Given the description of an element on the screen output the (x, y) to click on. 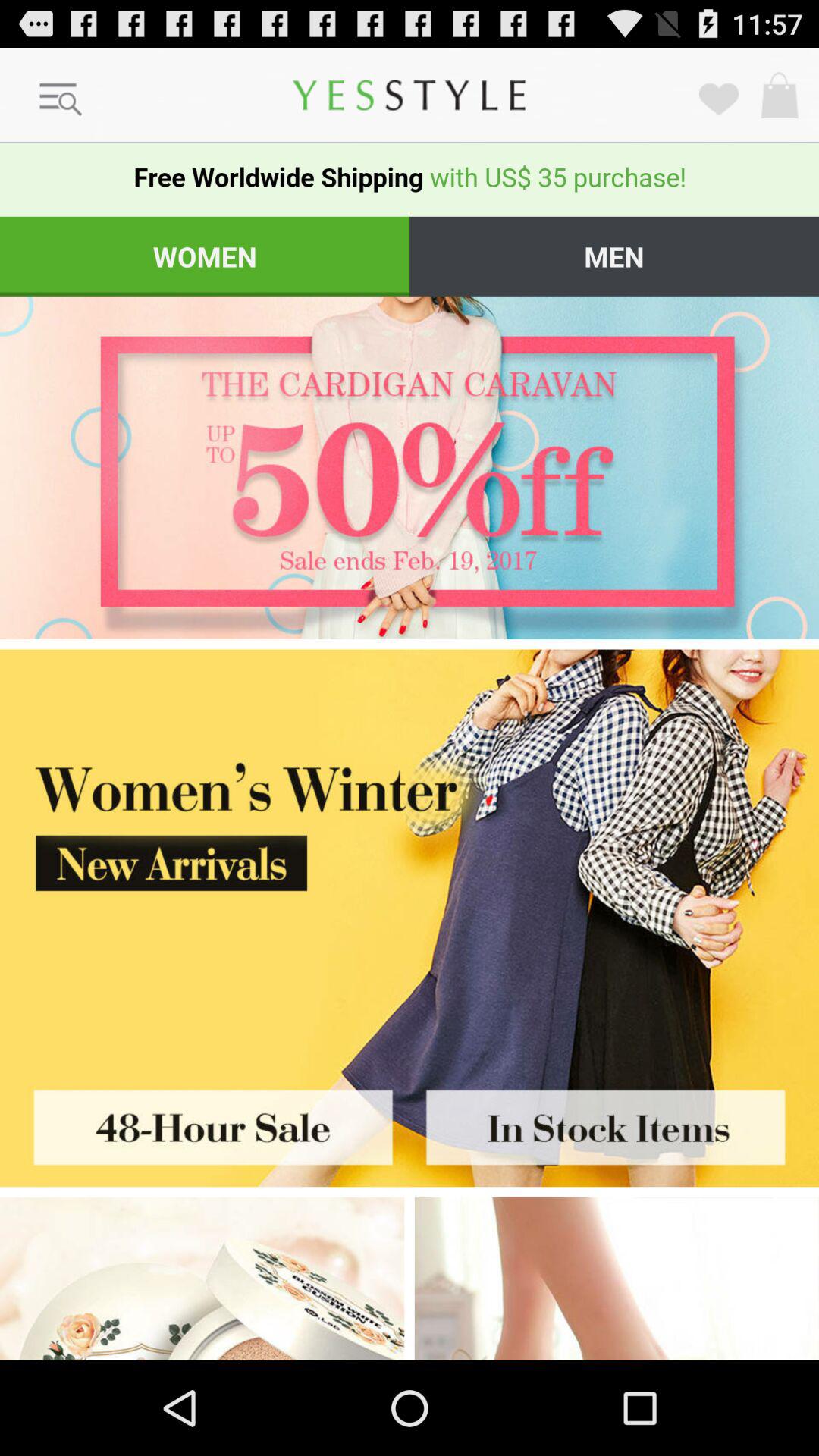
advertisement (204, 1122)
